Given the description of an element on the screen output the (x, y) to click on. 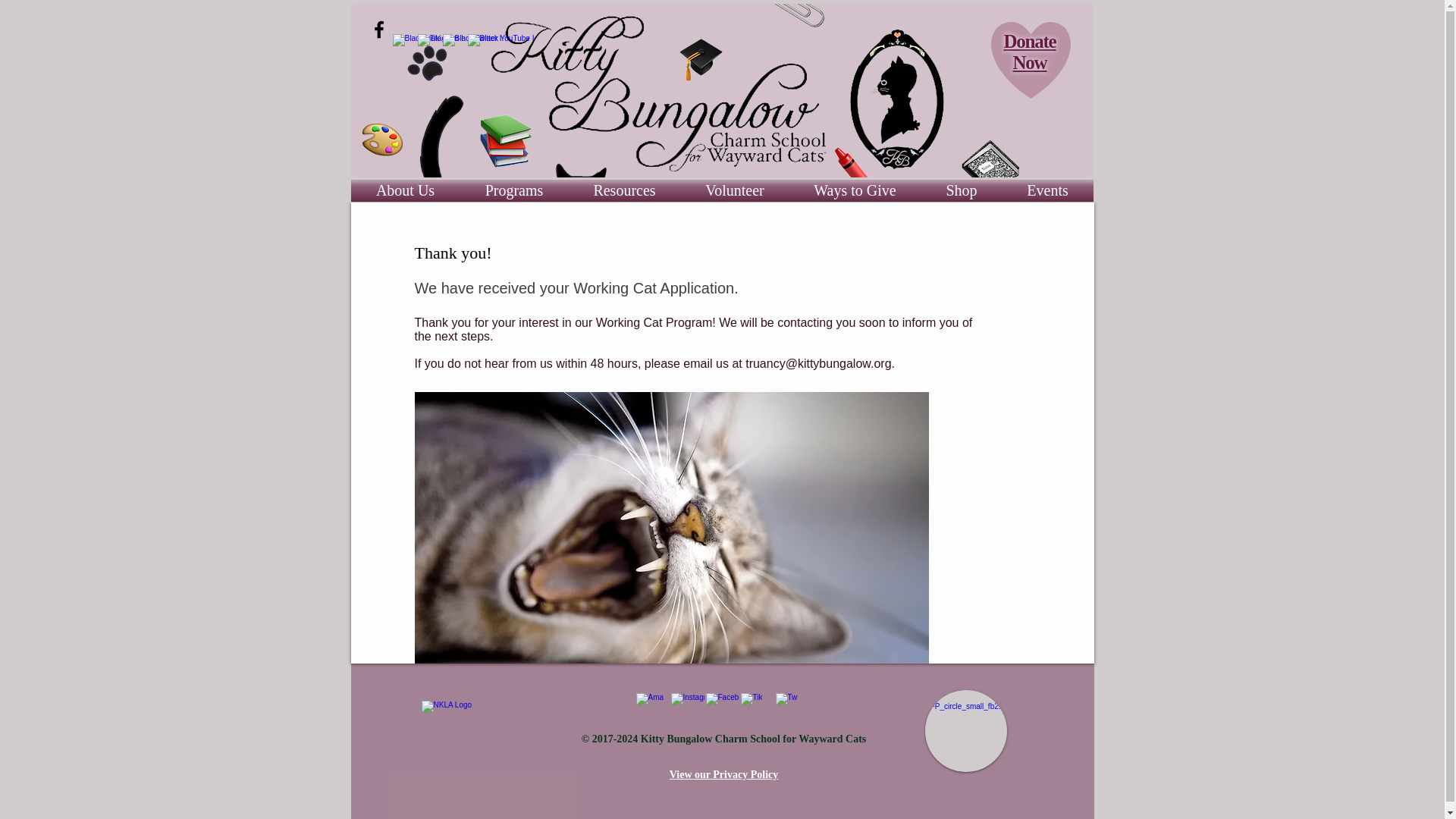
About Us (405, 190)
Volunteer (735, 190)
Events (1048, 190)
Donate Now (1030, 51)
Ways to Give (854, 190)
Programs (513, 190)
Shop (960, 190)
